Given the description of an element on the screen output the (x, y) to click on. 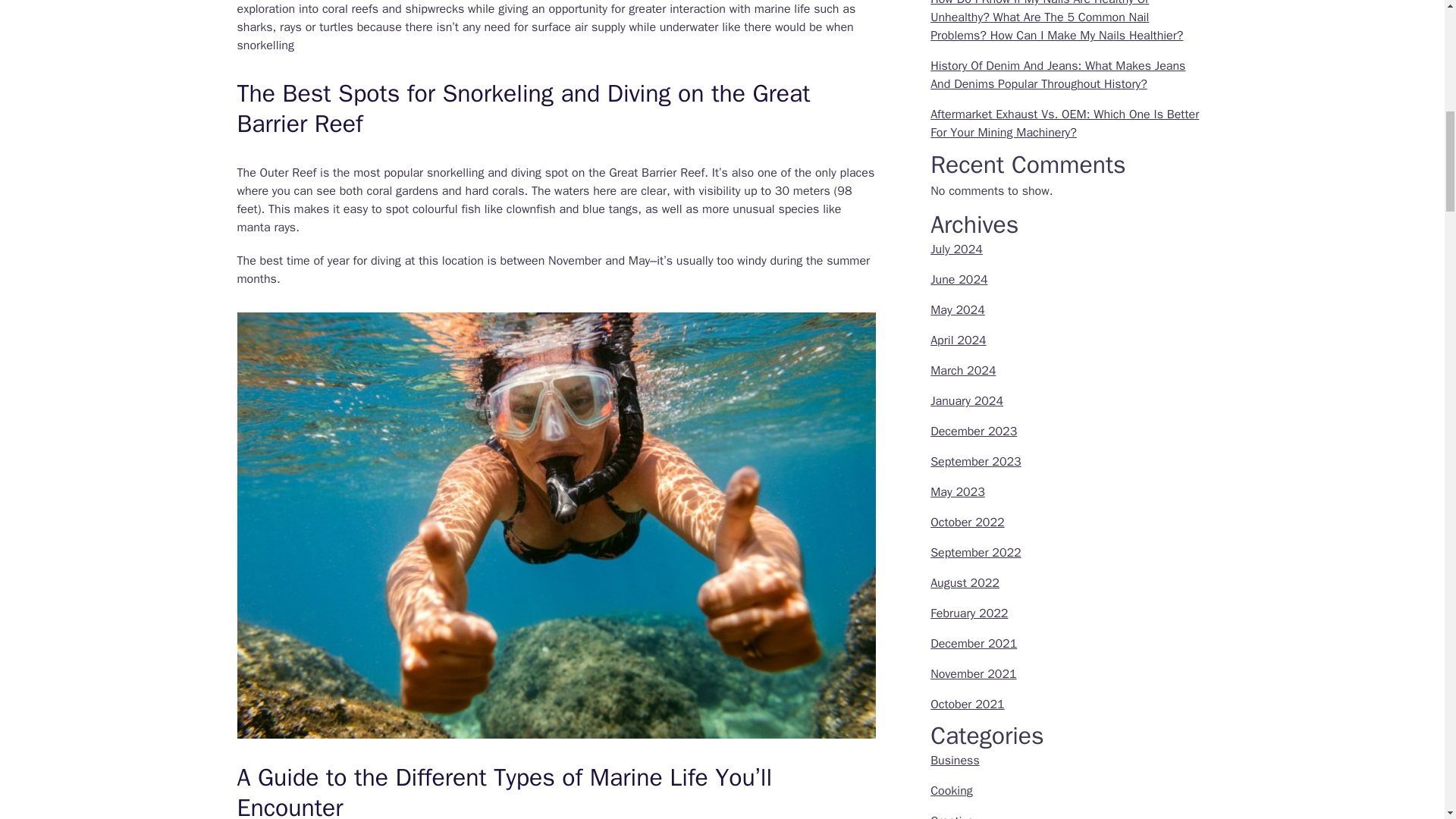
December 2023 (973, 431)
January 2024 (966, 400)
May 2023 (957, 491)
July 2024 (956, 249)
October 2022 (967, 522)
September 2023 (976, 461)
May 2024 (957, 309)
June 2024 (958, 279)
April 2024 (958, 340)
March 2024 (962, 370)
